Given the description of an element on the screen output the (x, y) to click on. 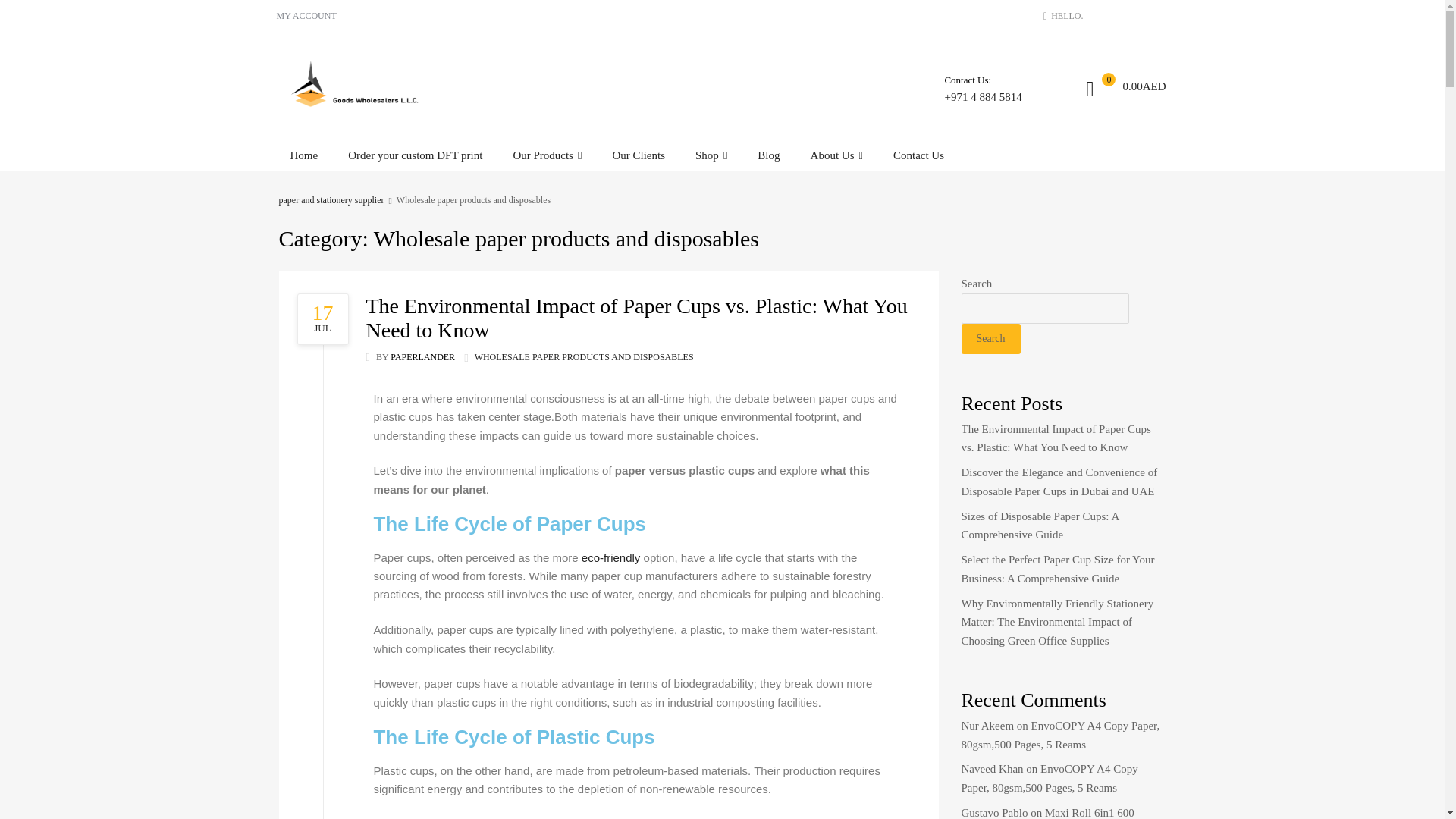
PAPERLANDER (422, 357)
Register (796, 469)
Our Clients (638, 155)
Home (304, 155)
paper and stationery supplier (331, 199)
Blog (767, 155)
REGISTER (1145, 15)
Shop (326, 318)
View all posts by paperlander (711, 155)
SIGN IN (422, 357)
Order your custom DFT print (1101, 15)
Paper Lander Goods Wholesalers L.L.C. (414, 155)
WHOLESALE PAPER PRODUCTS AND DISPOSABLES (354, 105)
Click here to read more (584, 357)
